Given the description of an element on the screen output the (x, y) to click on. 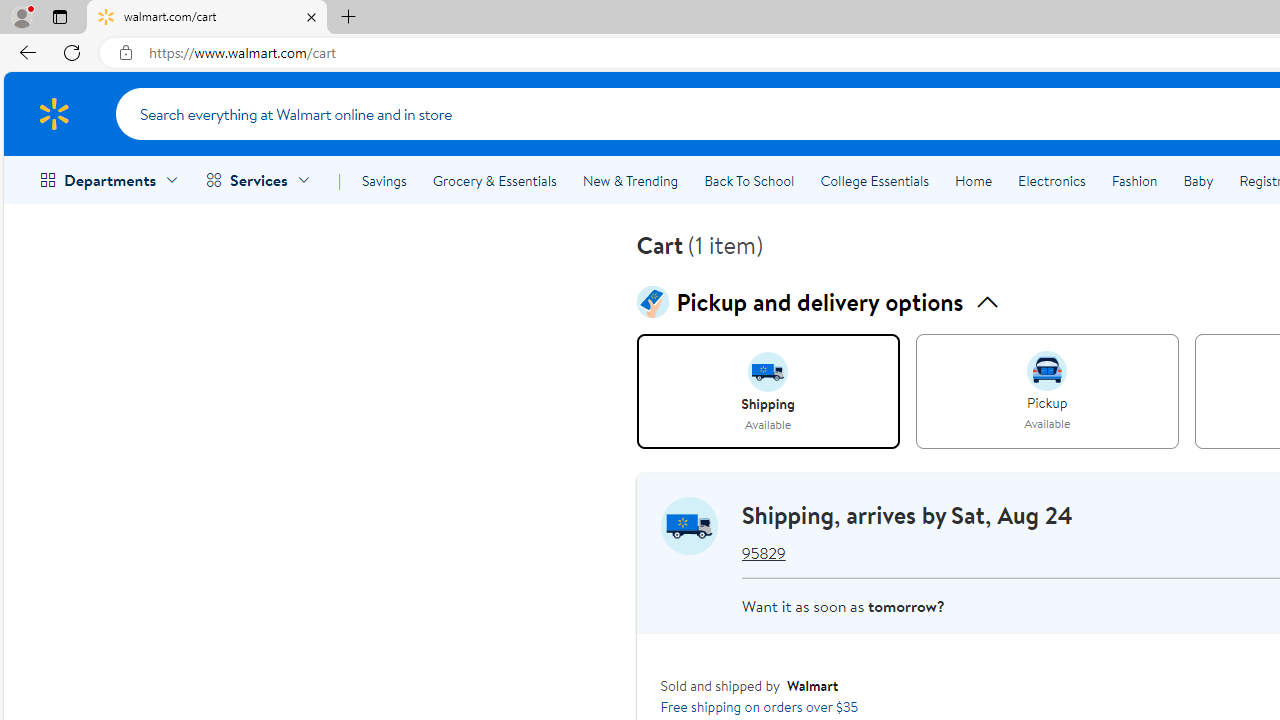
Walmart Homepage (53, 113)
Savings (384, 180)
Fashion (1134, 180)
walmart.com/cart (207, 17)
Baby (1197, 180)
Electronics (1051, 180)
Baby (1197, 180)
intent image for pickup (1046, 370)
95829 (763, 553)
Back To School (749, 180)
